Given the description of an element on the screen output the (x, y) to click on. 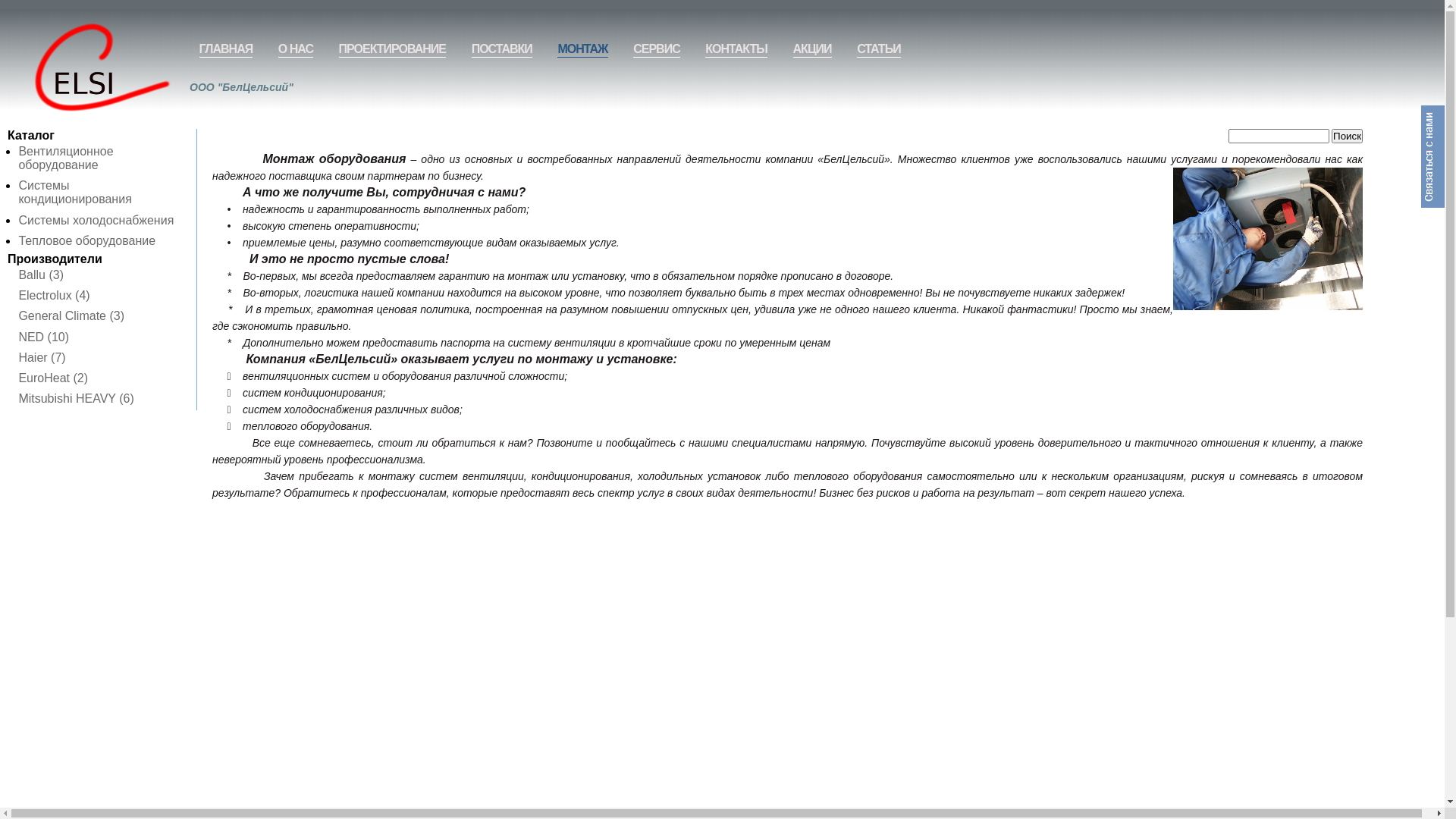
EuroHeat (2) Element type: text (52, 377)
Electrolux (4) Element type: text (53, 294)
General Climate (3) Element type: text (71, 315)
NED (10) Element type: text (43, 336)
Mitsubishi HEAVY (6) Element type: text (75, 398)
Haier (7) Element type: text (41, 357)
Ballu (3) Element type: text (40, 274)
